Given the description of an element on the screen output the (x, y) to click on. 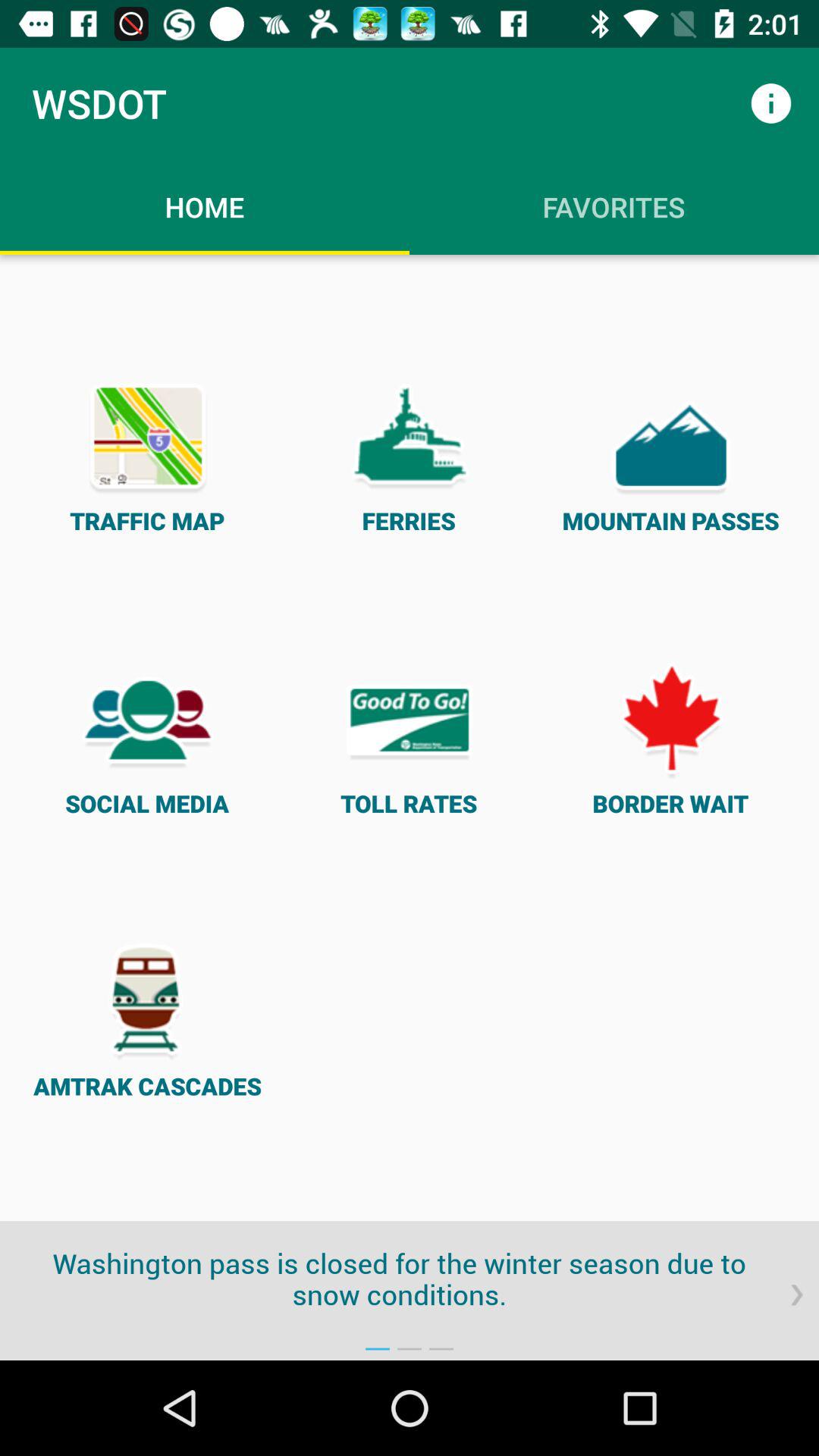
flip until traffic map icon (147, 455)
